Given the description of an element on the screen output the (x, y) to click on. 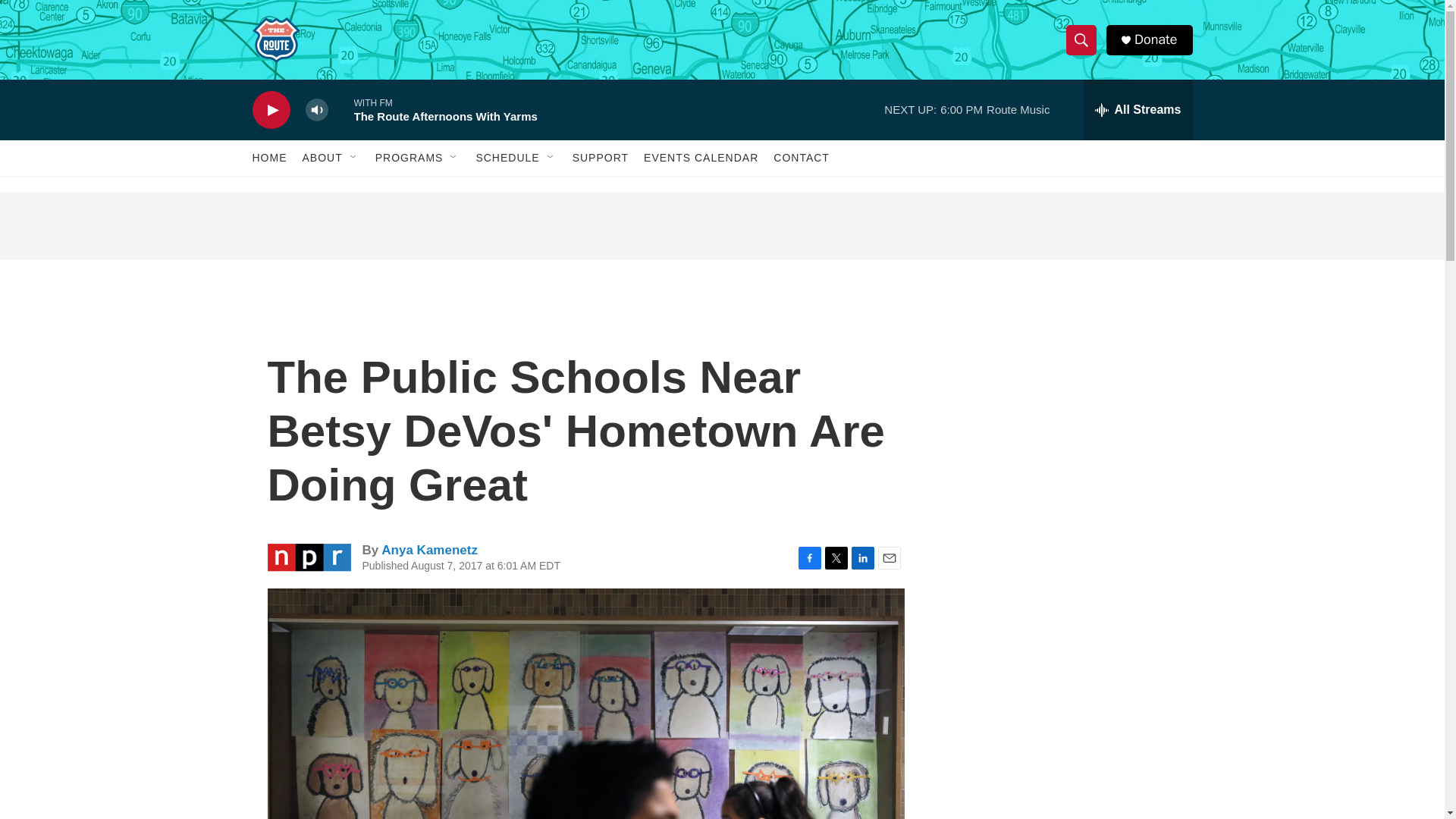
Show Search (1080, 39)
3rd party ad content (721, 225)
3rd party ad content (1062, 419)
Donate (1155, 39)
